Given the description of an element on the screen output the (x, y) to click on. 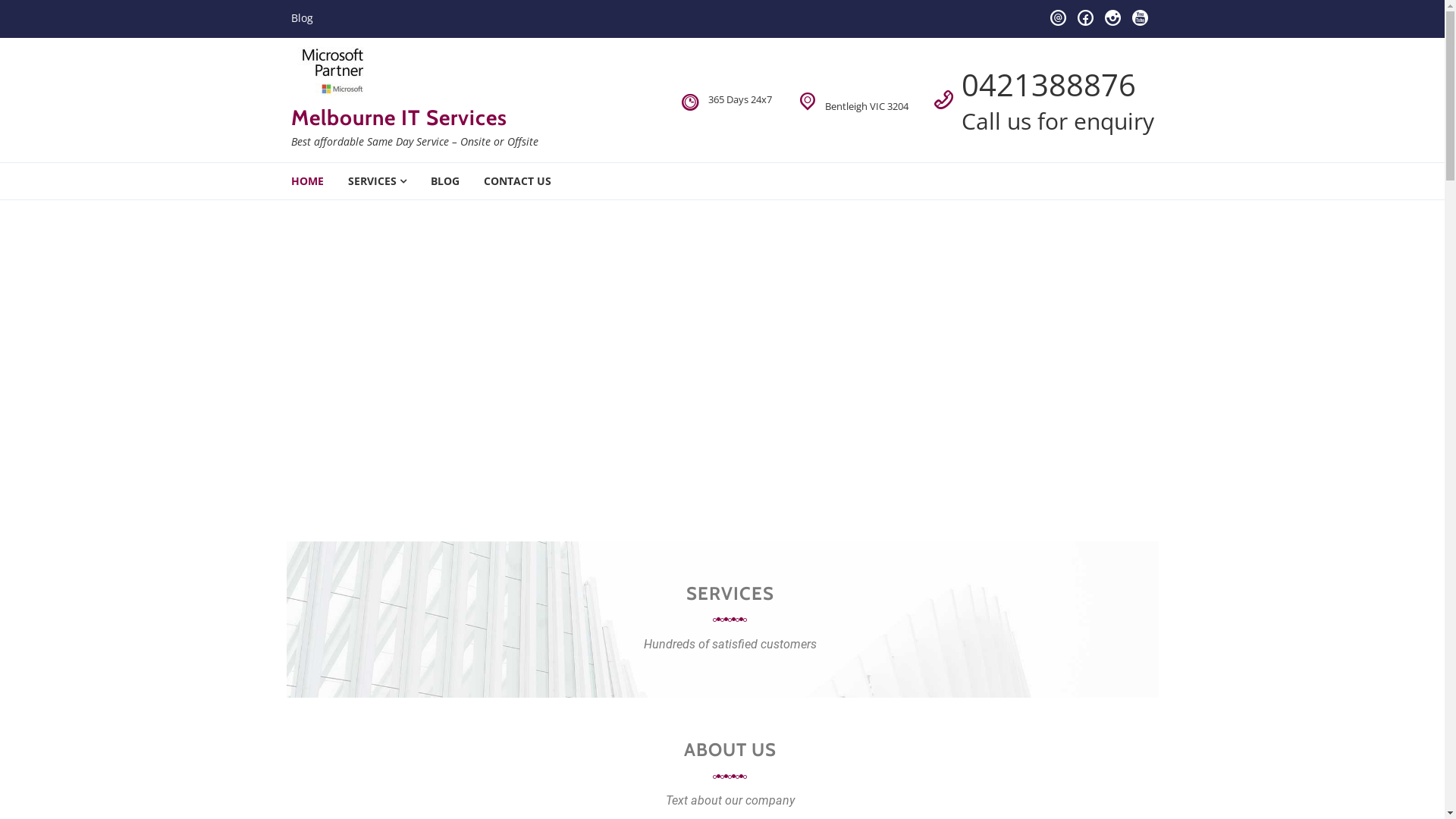
BLOG Element type: text (444, 181)
SERVICES Element type: text (376, 181)
Melbourne IT Services Element type: text (399, 117)
CONTACT US Element type: text (517, 181)
HOME Element type: text (307, 181)
Blog Element type: text (302, 17)
0421388876 Element type: text (1048, 84)
